Given the description of an element on the screen output the (x, y) to click on. 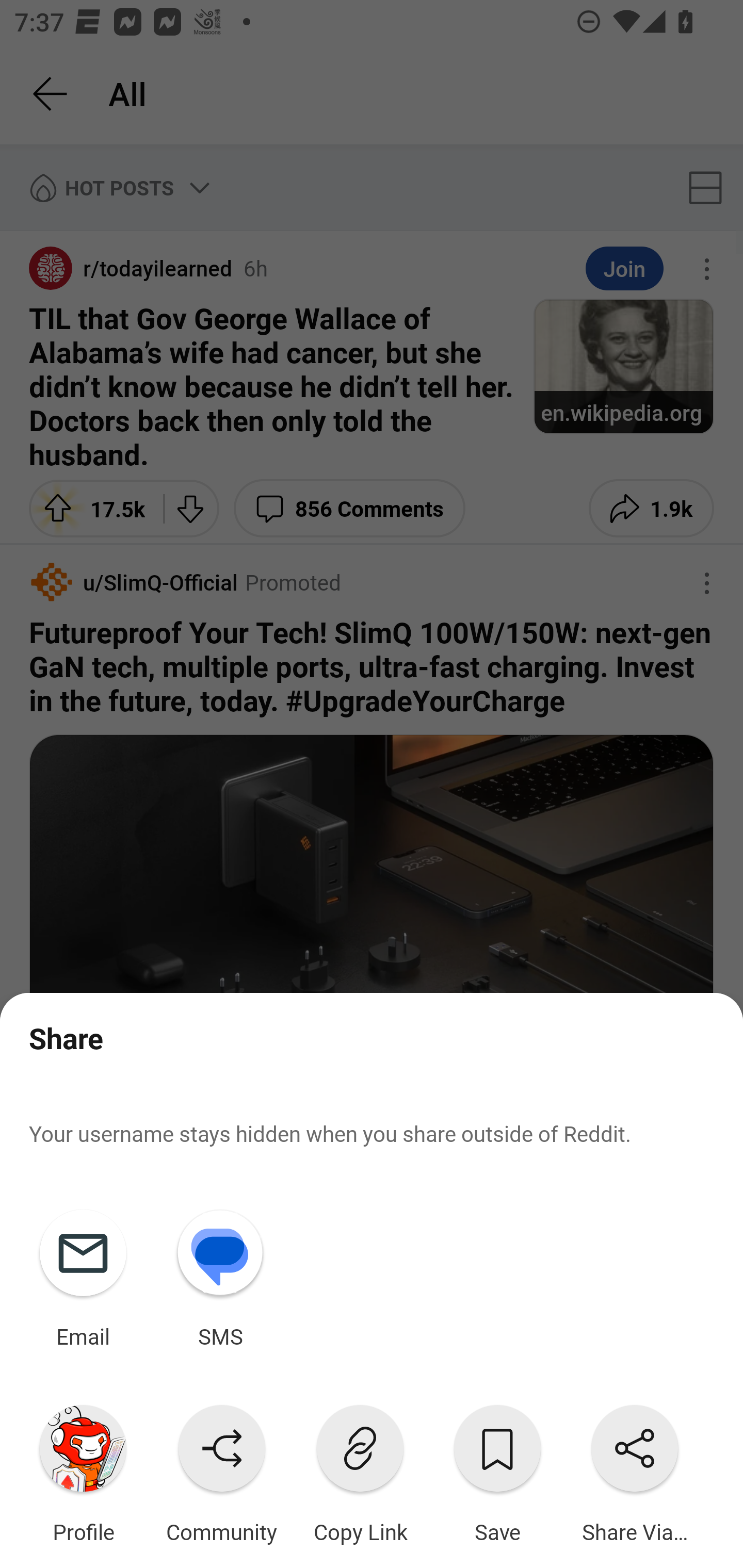
slimq.life Shop Now (371, 1112)
Email (82, 1274)
SMS (220, 1274)
Profile (82, 1470)
Community (221, 1470)
Copy Link (359, 1470)
Save (497, 1470)
Share Via… (634, 1470)
